Given the description of an element on the screen output the (x, y) to click on. 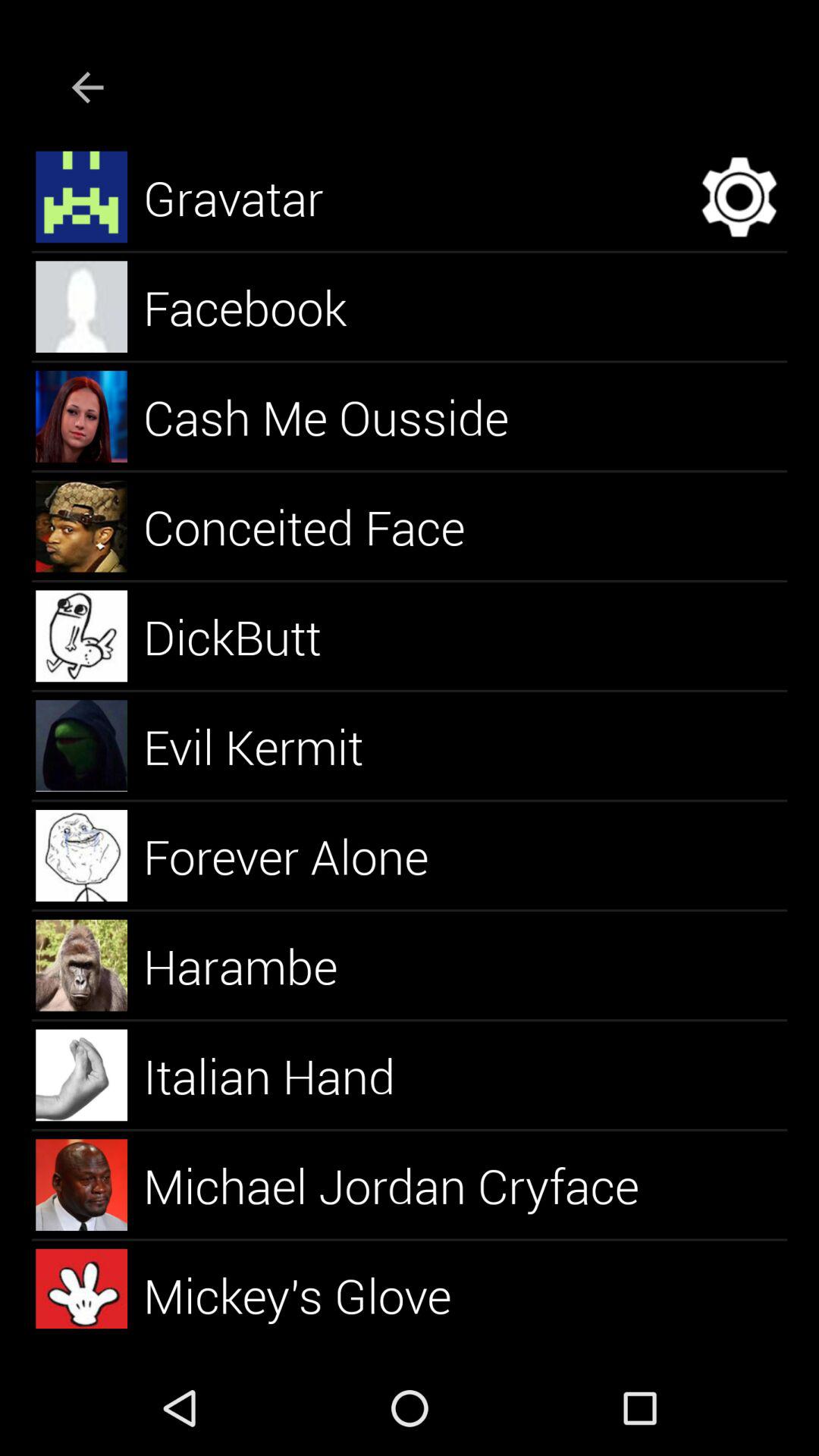
flip to the michael jordan cryface icon (409, 1184)
